Given the description of an element on the screen output the (x, y) to click on. 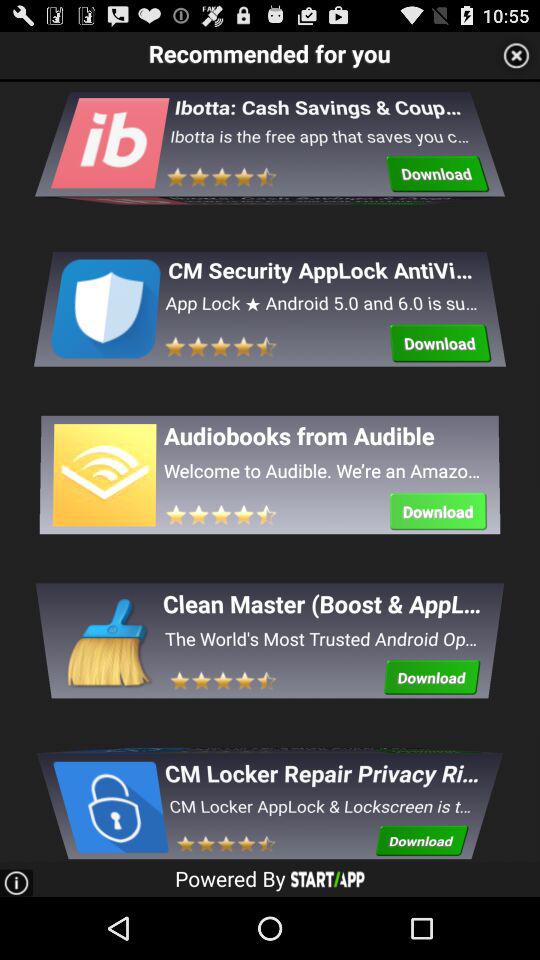
click on the last icon (109, 796)
select the text which is right of powered by on the bottom (328, 879)
select the first icon which is below recommended for you (109, 157)
